Given the description of an element on the screen output the (x, y) to click on. 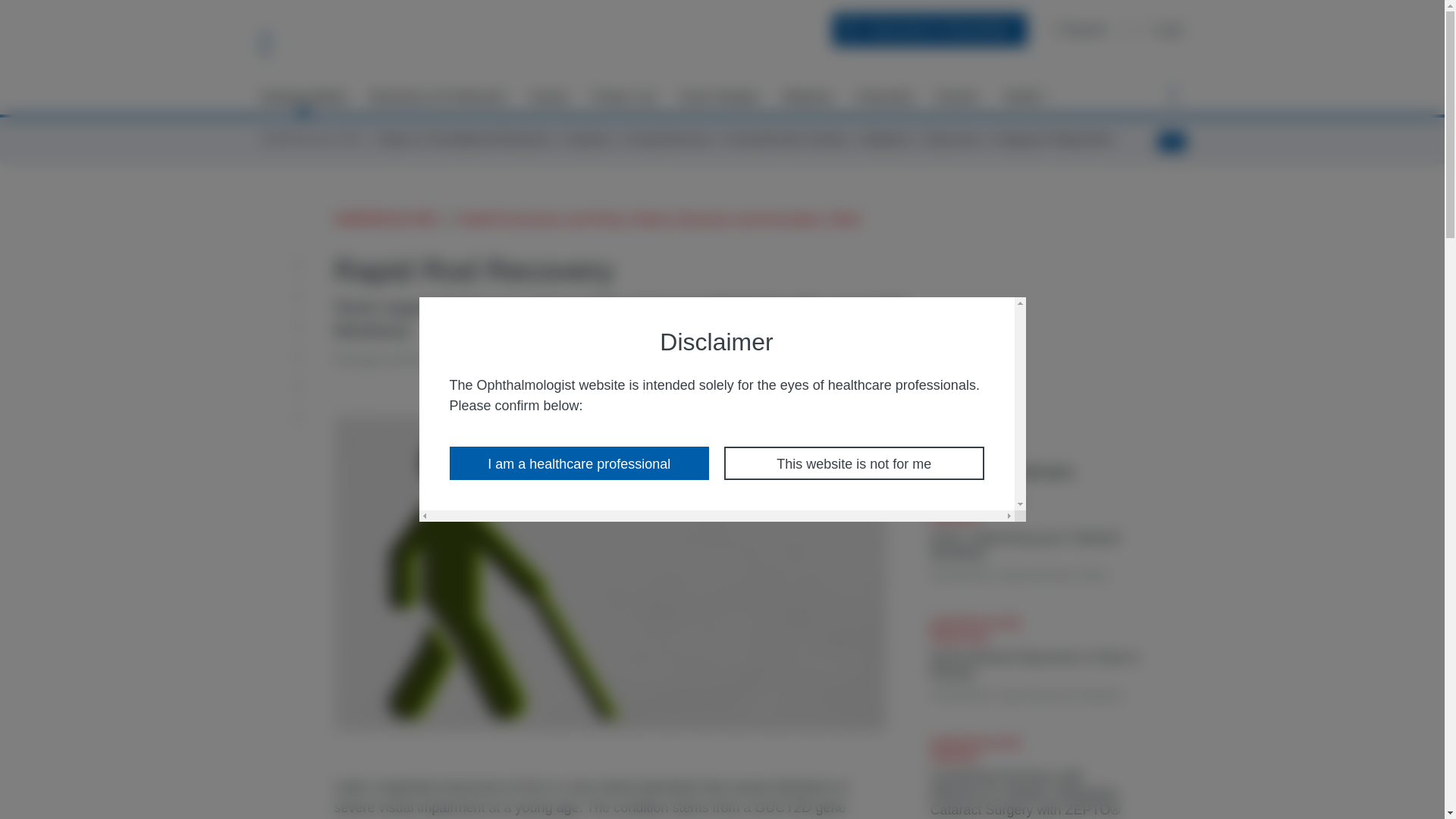
Share this article on Facebook (302, 295)
Comprehensive (667, 138)
Cataract (587, 138)
Case Studies (719, 96)
SUBSPECIALTIES (311, 138)
Print this article (302, 416)
Issues (549, 96)
Share this article on LinkedIn (302, 325)
Register (1079, 29)
Share this article on Doximity (302, 386)
Share this article by email (302, 264)
Subspecialties (303, 96)
Health Economics and Policy, (544, 219)
Retina, (653, 219)
Login (1161, 29)
